Given the description of an element on the screen output the (x, y) to click on. 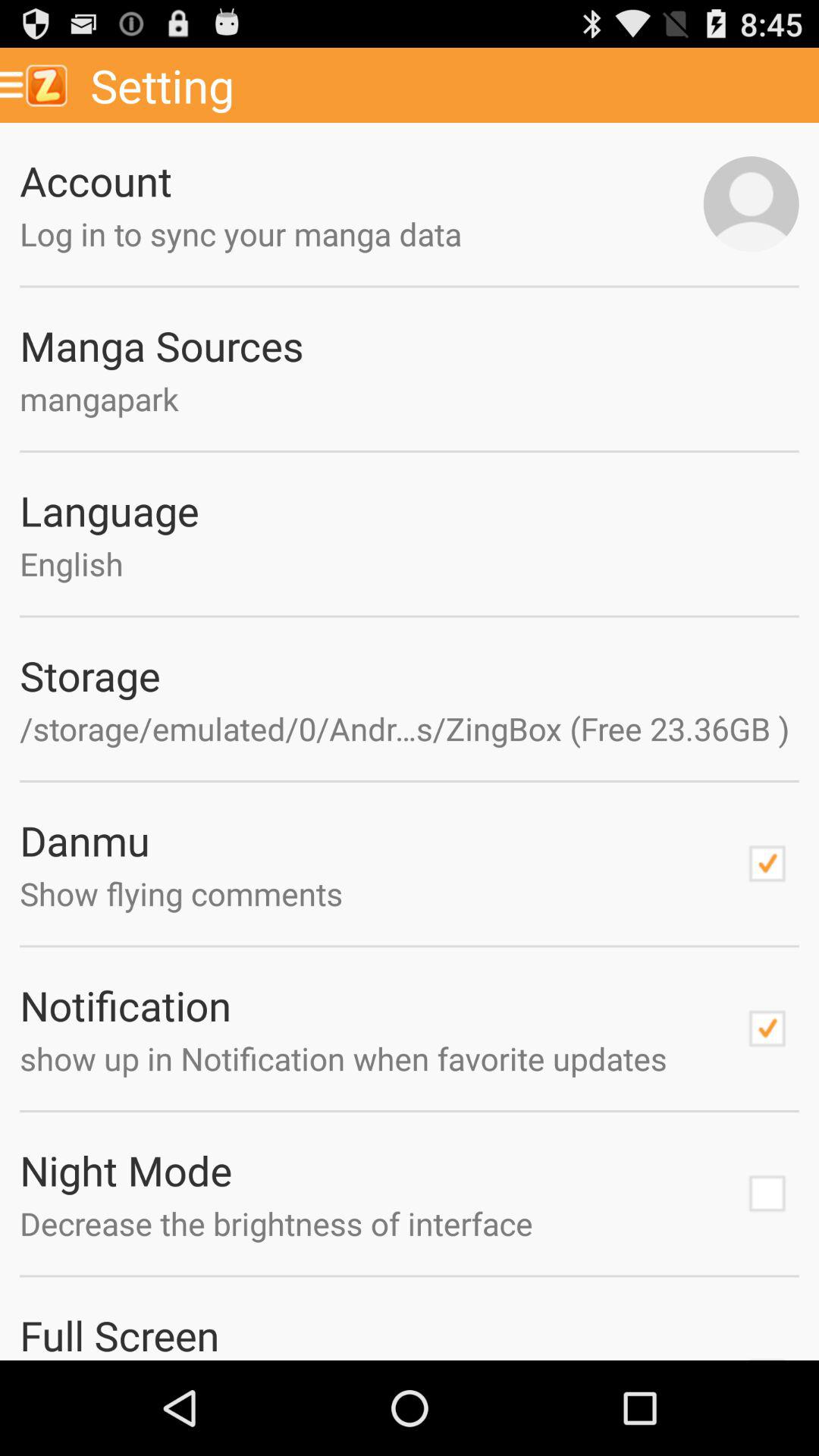
press the language icon (409, 510)
